Given the description of an element on the screen output the (x, y) to click on. 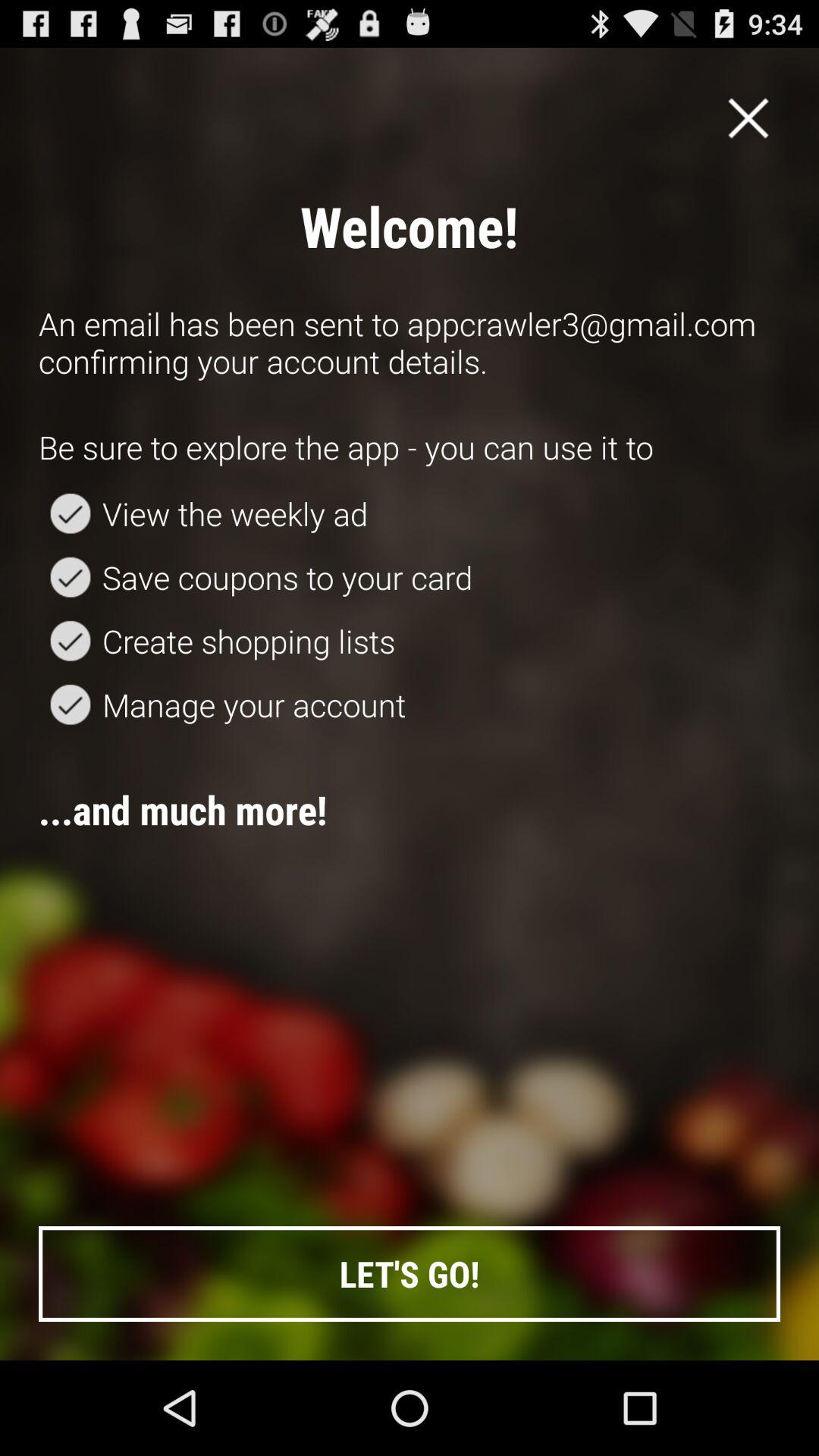
choose the item at the top right corner (748, 118)
